Given the description of an element on the screen output the (x, y) to click on. 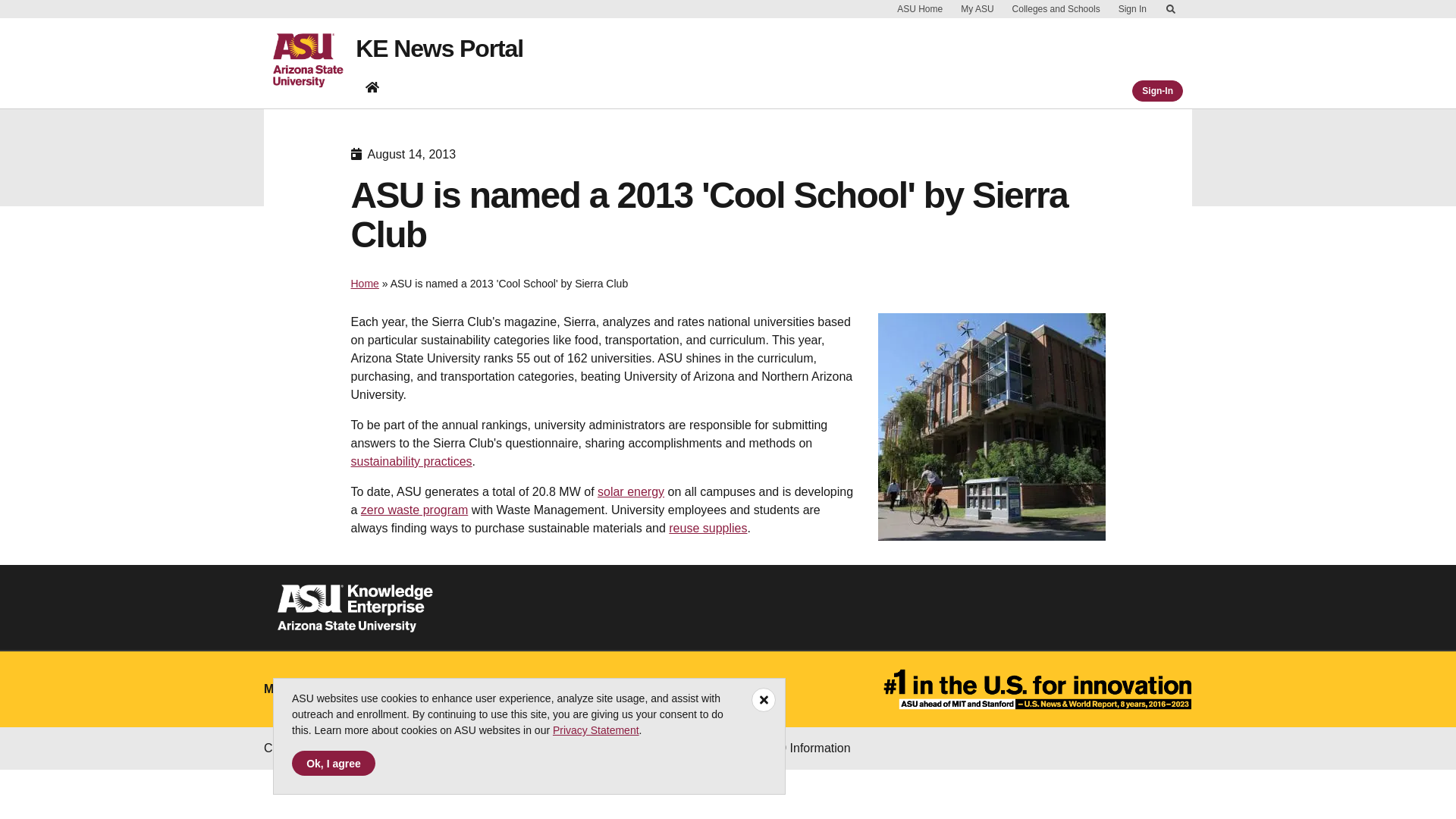
KE News Portal home (372, 87)
Skip to Content (1170, 8)
zero waste program (414, 509)
ASU home (314, 60)
Home (364, 283)
KE News Portal home (371, 90)
sustainability practices (410, 461)
Sign-In (1157, 90)
My ASU (976, 8)
ASU Home (920, 8)
